Given the description of an element on the screen output the (x, y) to click on. 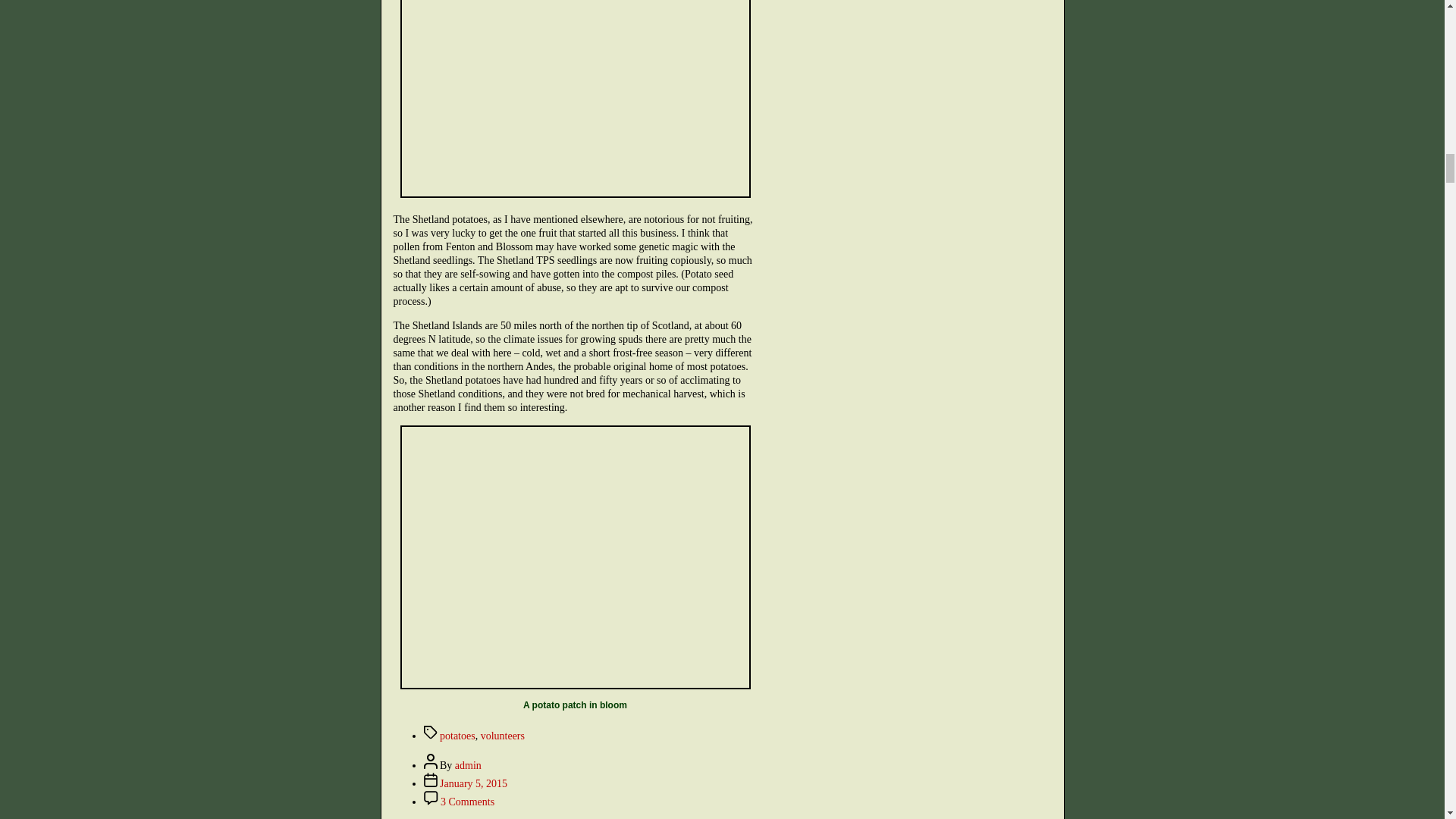
potatoes (457, 736)
volunteers (502, 736)
January 5, 2015 (472, 783)
admin (467, 765)
